Given the description of an element on the screen output the (x, y) to click on. 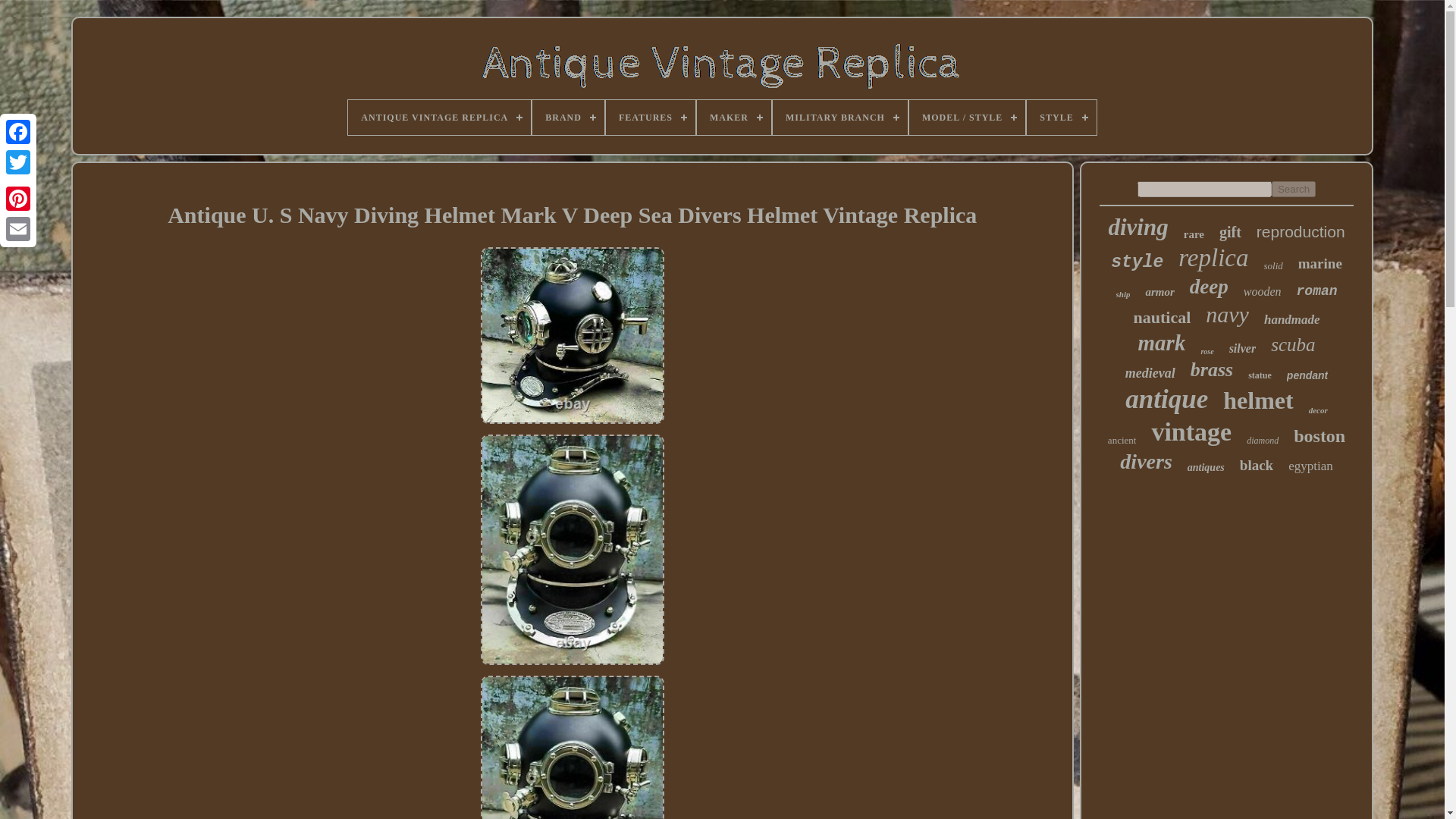
FEATURES (650, 117)
BRAND (568, 117)
Search (1293, 188)
ANTIQUE VINTAGE REPLICA (439, 117)
MAKER (734, 117)
